Given the description of an element on the screen output the (x, y) to click on. 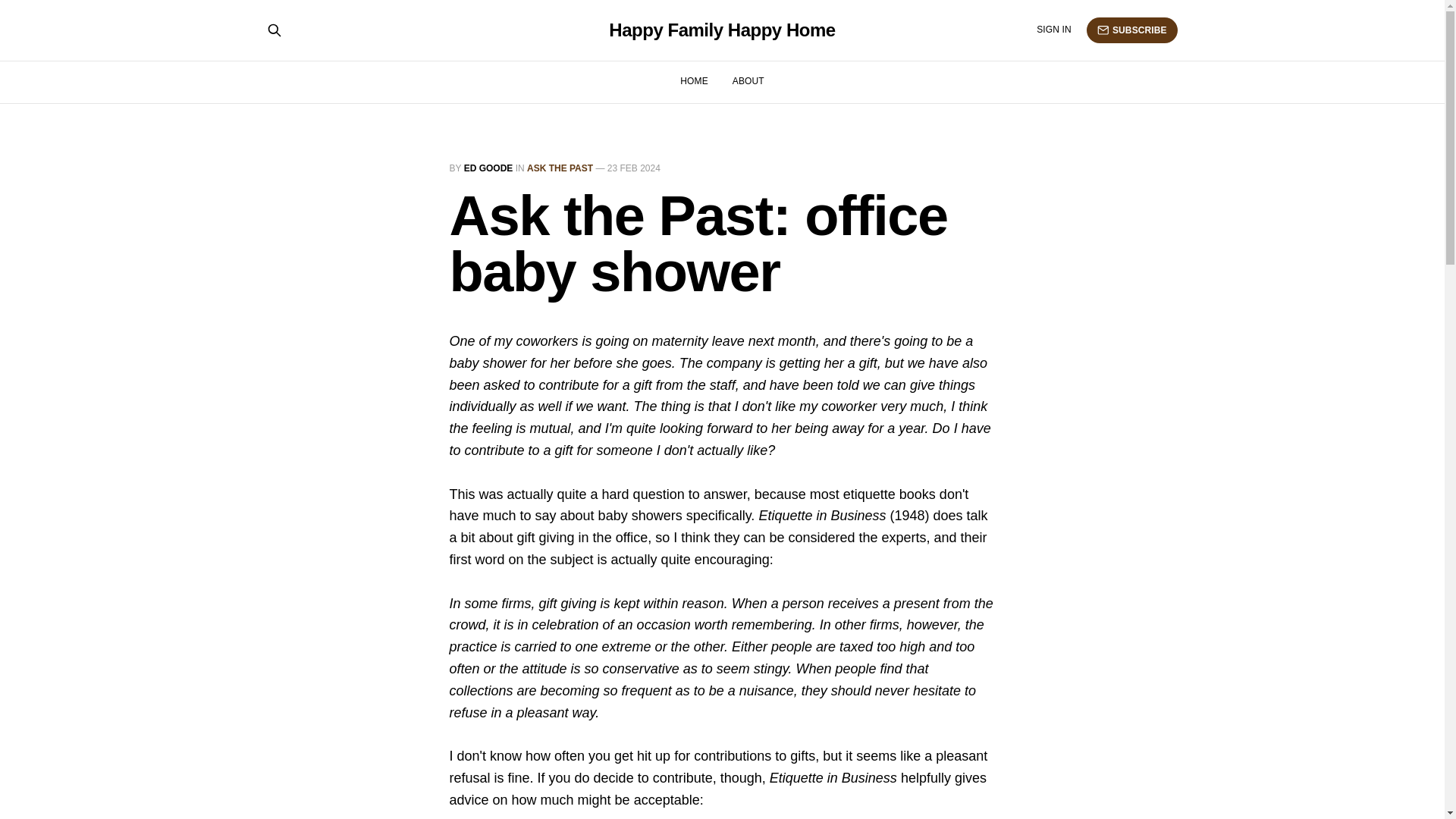
SIGN IN (1053, 29)
ED GOODE (488, 167)
SUBSCRIBE (1131, 30)
ASK THE PAST (559, 167)
ABOUT (748, 81)
HOME (693, 81)
Happy Family Happy Home (721, 30)
